Given the description of an element on the screen output the (x, y) to click on. 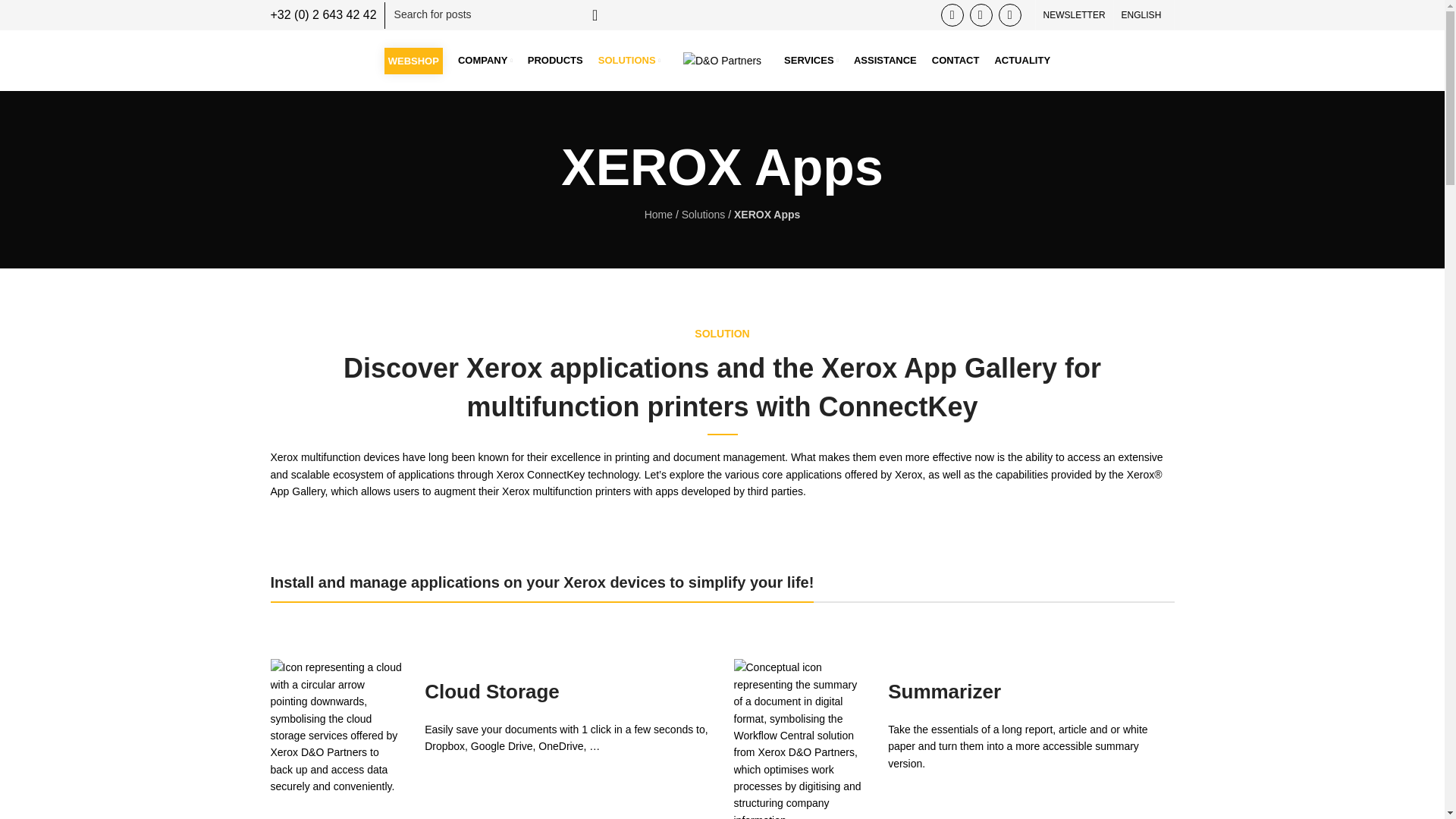
COMPANY (485, 60)
WEBSHOP (413, 59)
SERVICES (811, 60)
SEARCH (595, 14)
NEWSLETTER (1074, 15)
PRODUCTS (555, 60)
ENGLISH (1143, 15)
ASSISTANCE (885, 60)
storage-cloud-xerox-belgium (335, 726)
Search for posts (502, 14)
